Given the description of an element on the screen output the (x, y) to click on. 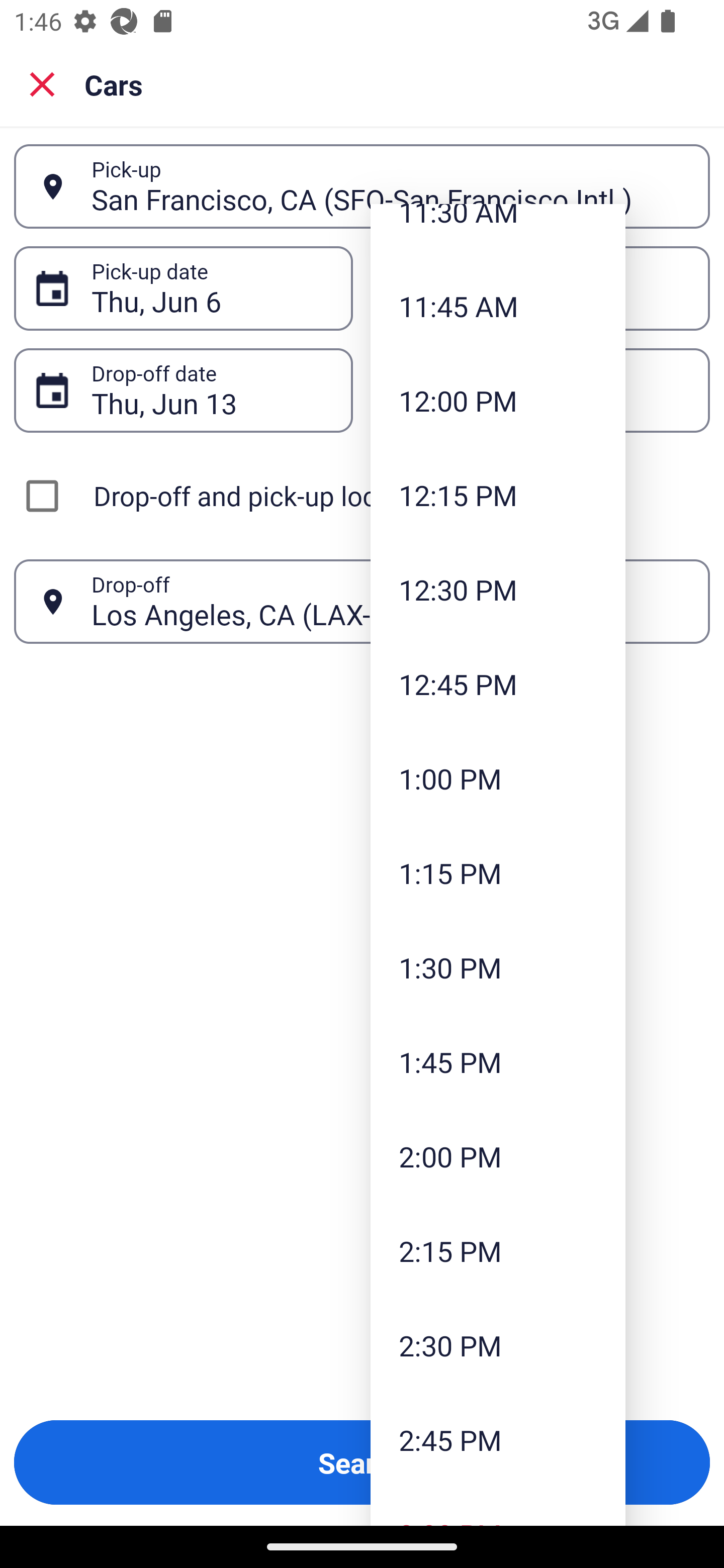
11:45 AM (497, 305)
12:00 PM (497, 400)
12:15 PM (497, 495)
12:30 PM (497, 589)
12:45 PM (497, 683)
1:00 PM (497, 778)
1:15 PM (497, 873)
1:30 PM (497, 967)
1:45 PM (497, 1061)
2:00 PM (497, 1156)
2:15 PM (497, 1251)
2:30 PM (497, 1345)
2:45 PM (497, 1439)
